Given the description of an element on the screen output the (x, y) to click on. 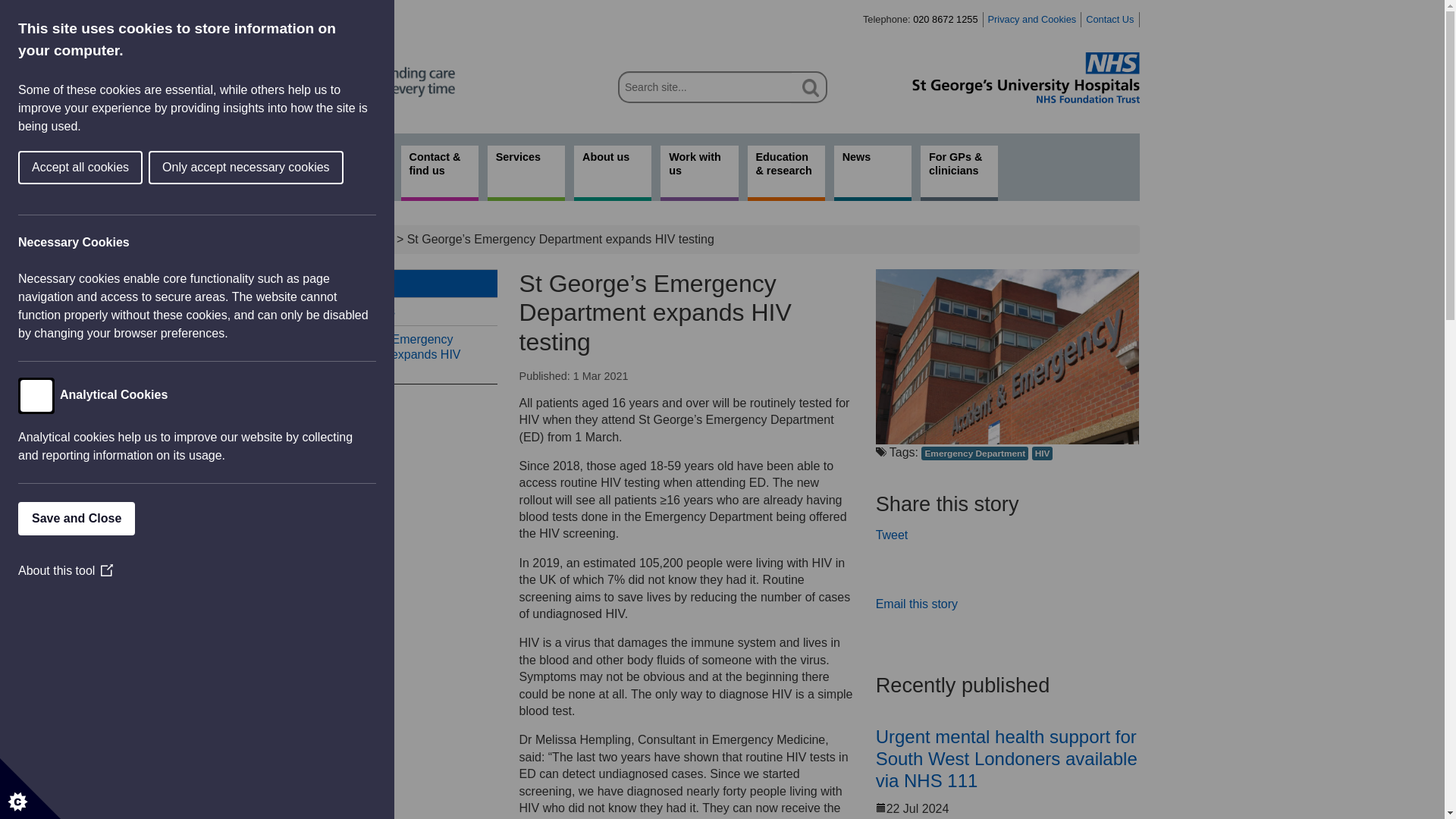
Services (525, 172)
Facebook (951, 573)
News (377, 238)
Privacy and Cookies (1032, 19)
Only accept necessary cookies (18, 167)
Press releases (400, 311)
Privacy and Cookies (1032, 19)
Contact Us (1110, 19)
About us (611, 172)
Go to News. (377, 238)
020 8672 1255 (944, 19)
News (400, 283)
Go to St George's University Hospitals NHS Foundation Trust. (333, 238)
News (872, 172)
Home (333, 238)
